Given the description of an element on the screen output the (x, y) to click on. 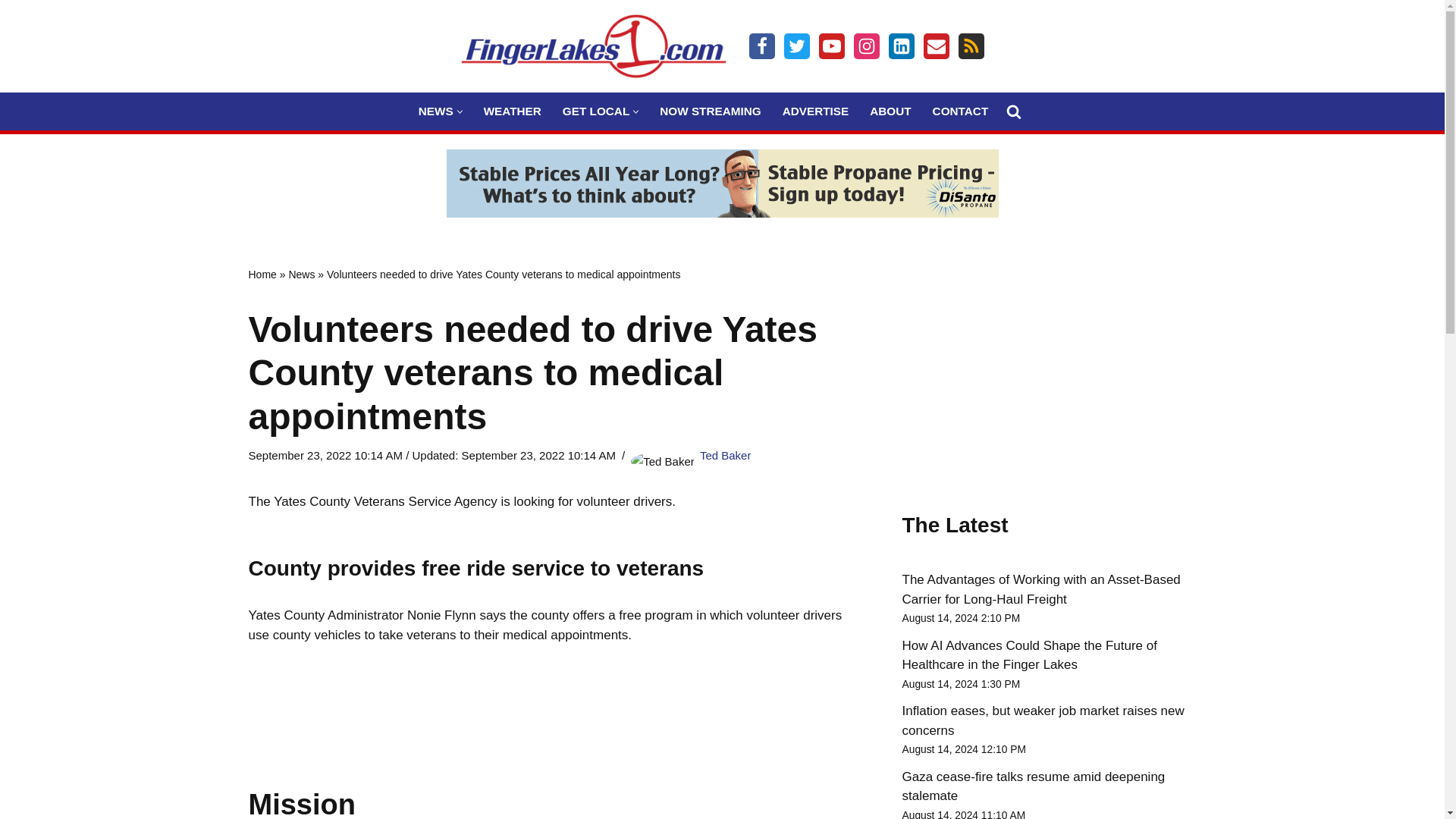
Youtube (831, 45)
Email Us (936, 45)
Feed (971, 45)
NEWS (435, 111)
WEATHER (512, 111)
ADVERTISE (815, 111)
Twitter (796, 45)
CONTACT (960, 111)
Posts by Ted Baker (725, 454)
Instagram (866, 45)
